Given the description of an element on the screen output the (x, y) to click on. 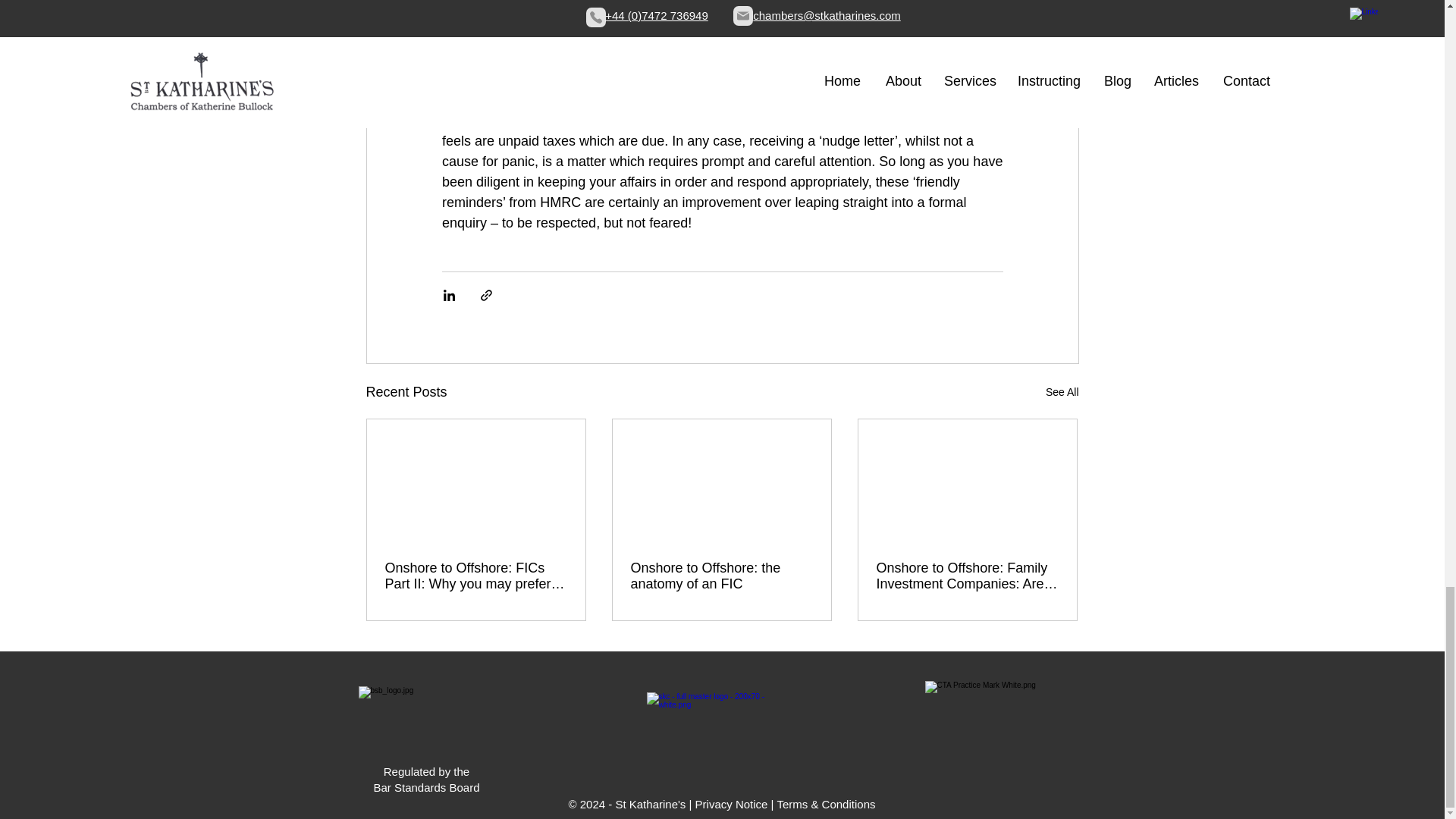
Privacy Notice (731, 803)
Onshore to Offshore: the anatomy of an FIC (721, 576)
See All (1061, 392)
